Given the description of an element on the screen output the (x, y) to click on. 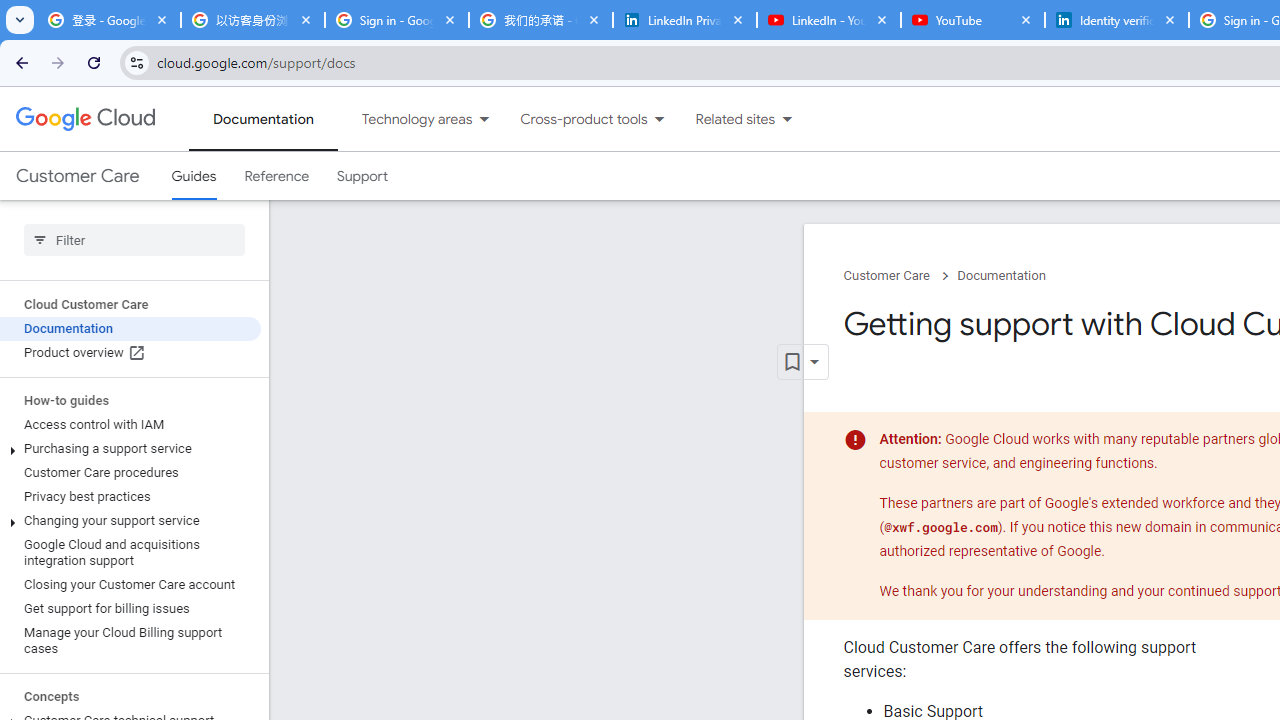
Customer Care (77, 175)
YouTube (972, 20)
Documentation (1001, 276)
Changing your support service (130, 520)
LinkedIn Privacy Policy (684, 20)
Get support for billing issues (130, 608)
Purchasing a support service (130, 448)
Support (362, 175)
Documentation, selected (263, 119)
Open dropdown (802, 362)
Type to filter (134, 239)
Sign in - Google Accounts (396, 20)
Dropdown menu for Technology areas (484, 119)
